Given the description of an element on the screen output the (x, y) to click on. 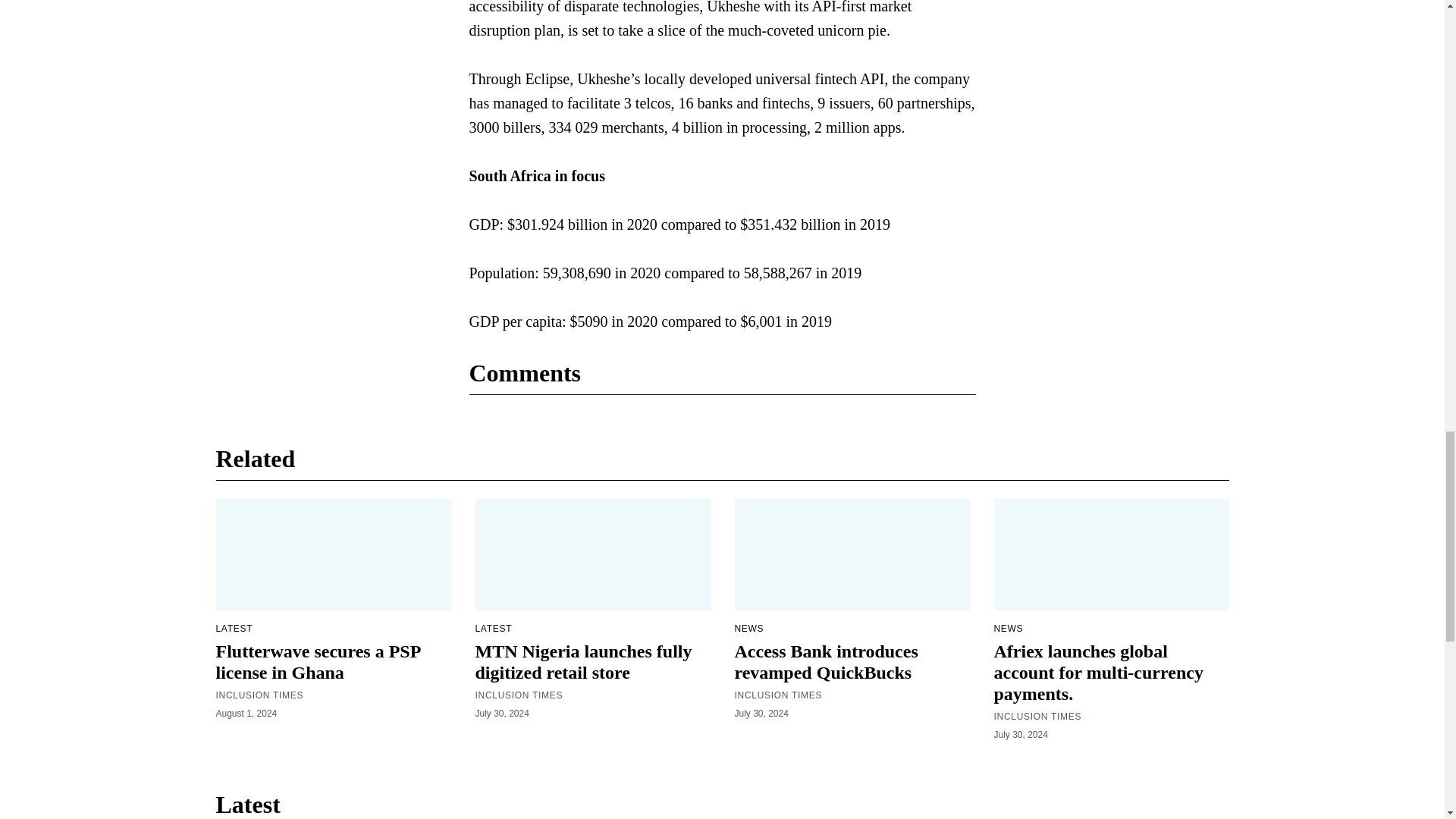
INCLUSION TIMES (1036, 716)
INCLUSION TIMES (258, 695)
NEWS (747, 628)
LATEST (493, 628)
INCLUSION TIMES (777, 695)
Flutterwave secures a PSP license in Ghana (317, 661)
LATEST (233, 628)
MTN Nigeria launches fully digitized retail store (582, 661)
Access Bank introduces revamped QuickBucks (825, 661)
INCLUSION TIMES (518, 695)
NEWS (1007, 628)
Afriex launches global account for multi-currency payments. (1097, 672)
